Given the description of an element on the screen output the (x, y) to click on. 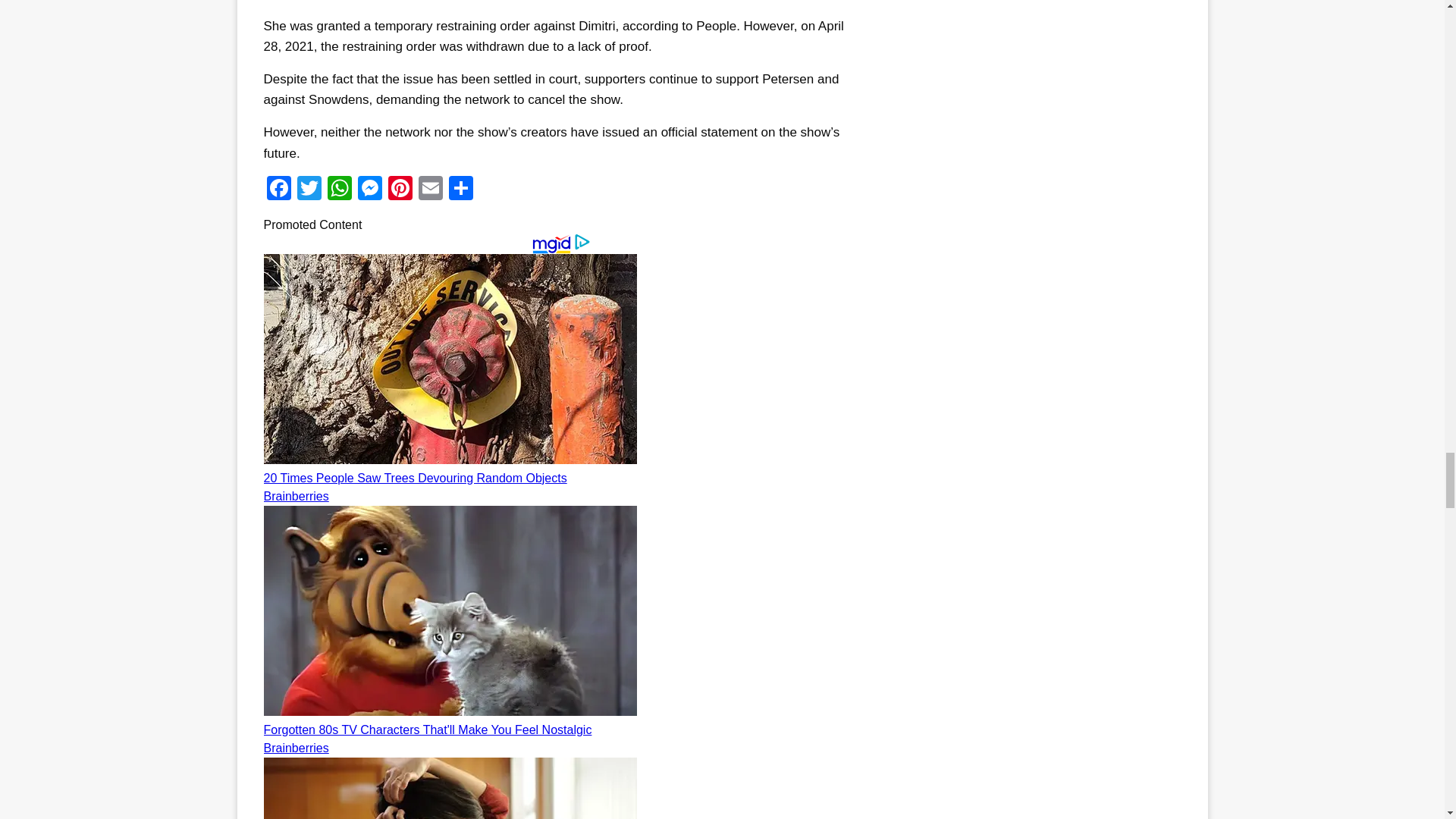
Twitter (309, 189)
Facebook (278, 189)
